Given the description of an element on the screen output the (x, y) to click on. 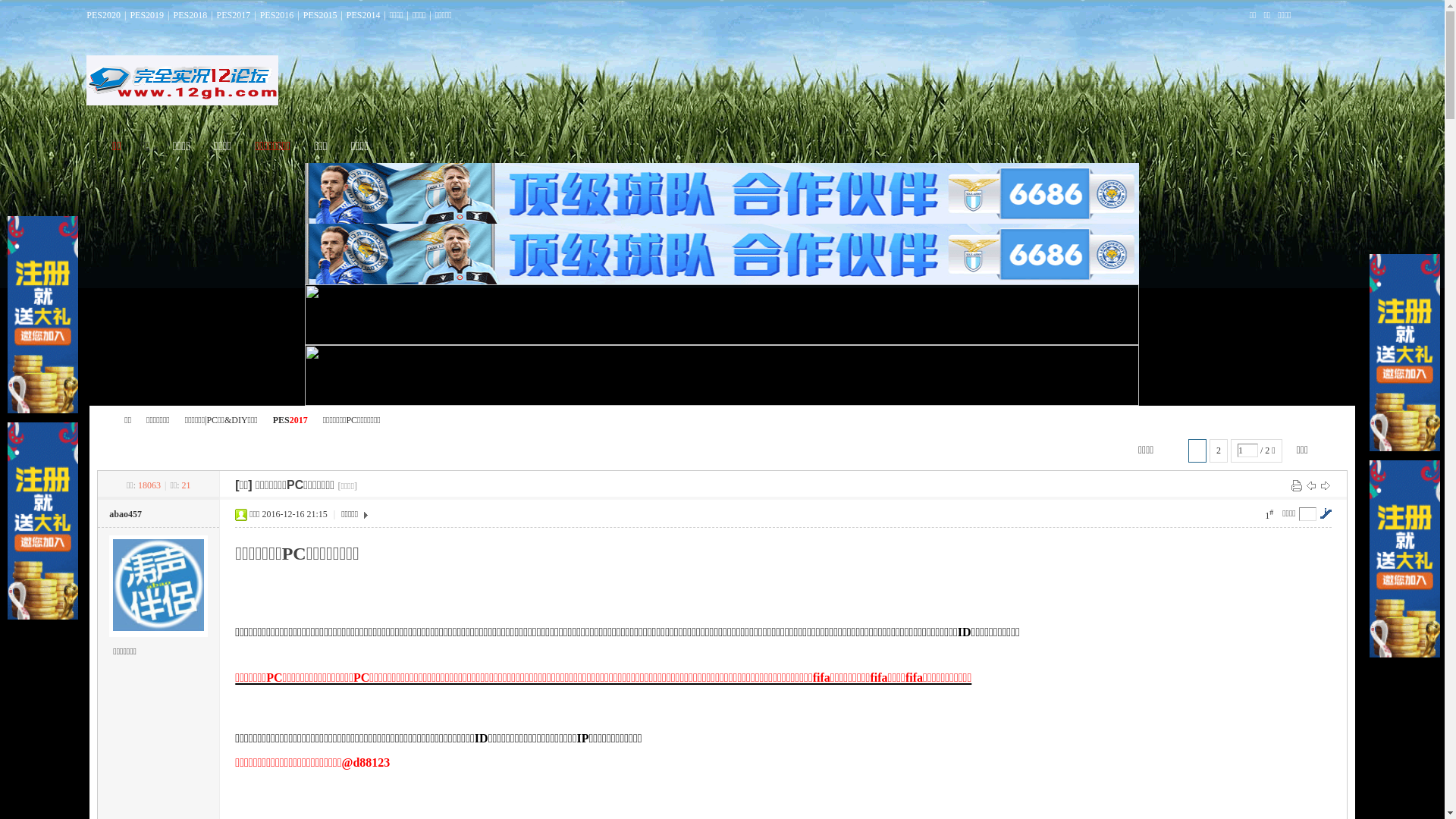
2 Element type: text (1218, 450)
PES2018 Element type: text (189, 15)
PES2019 Element type: text (146, 15)
1# Element type: text (1268, 514)
abao457 Element type: text (125, 513)
PES2020 Element type: text (103, 15)
PES2014 Element type: text (363, 15)
true Element type: text (1207, 160)
PES2017 Element type: text (290, 420)
PES2016 Element type: text (277, 15)
PES2015 Element type: text (320, 15)
PES2017 Element type: text (233, 15)
